Given the description of an element on the screen output the (x, y) to click on. 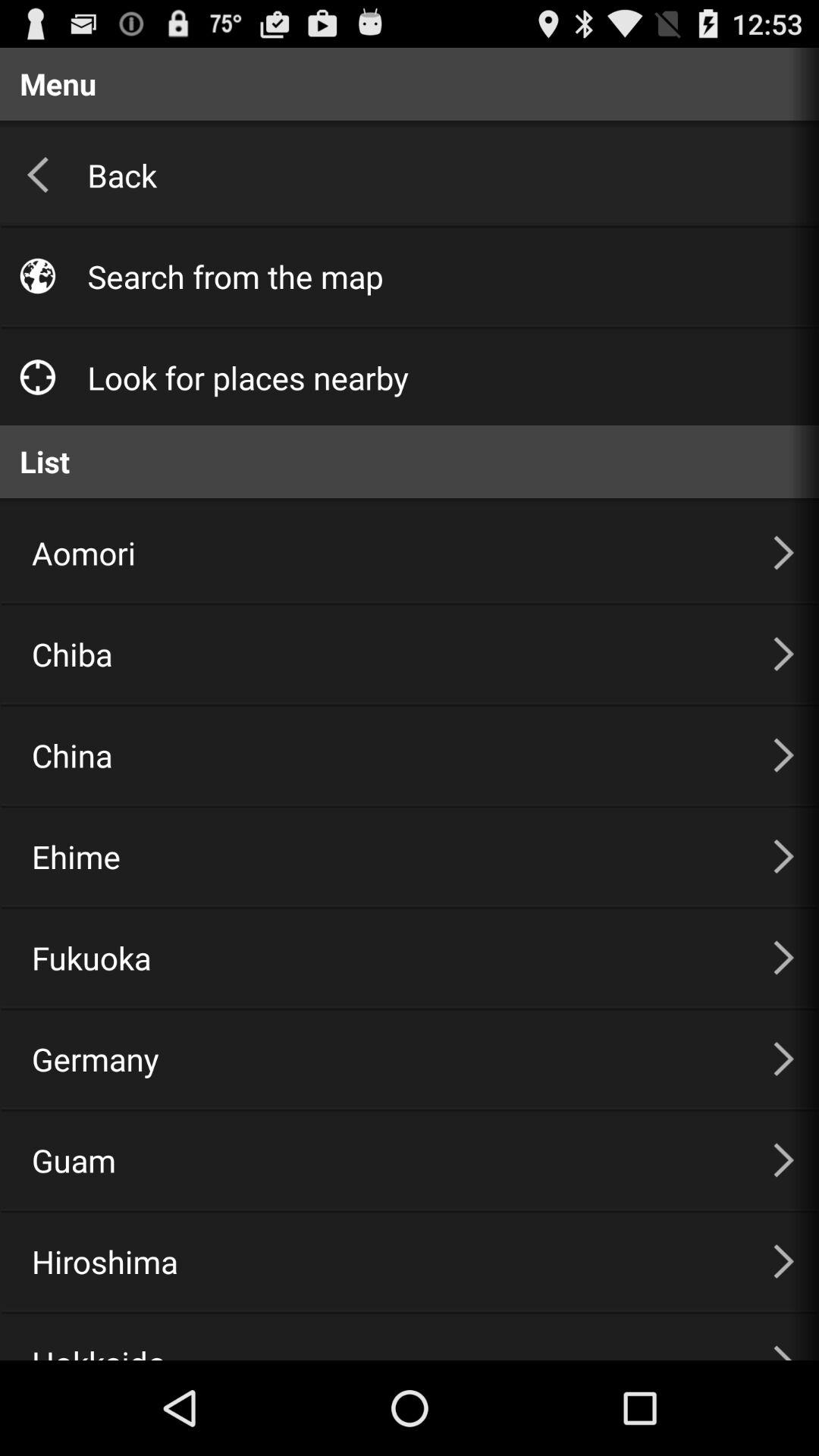
flip to aomori (384, 552)
